Given the description of an element on the screen output the (x, y) to click on. 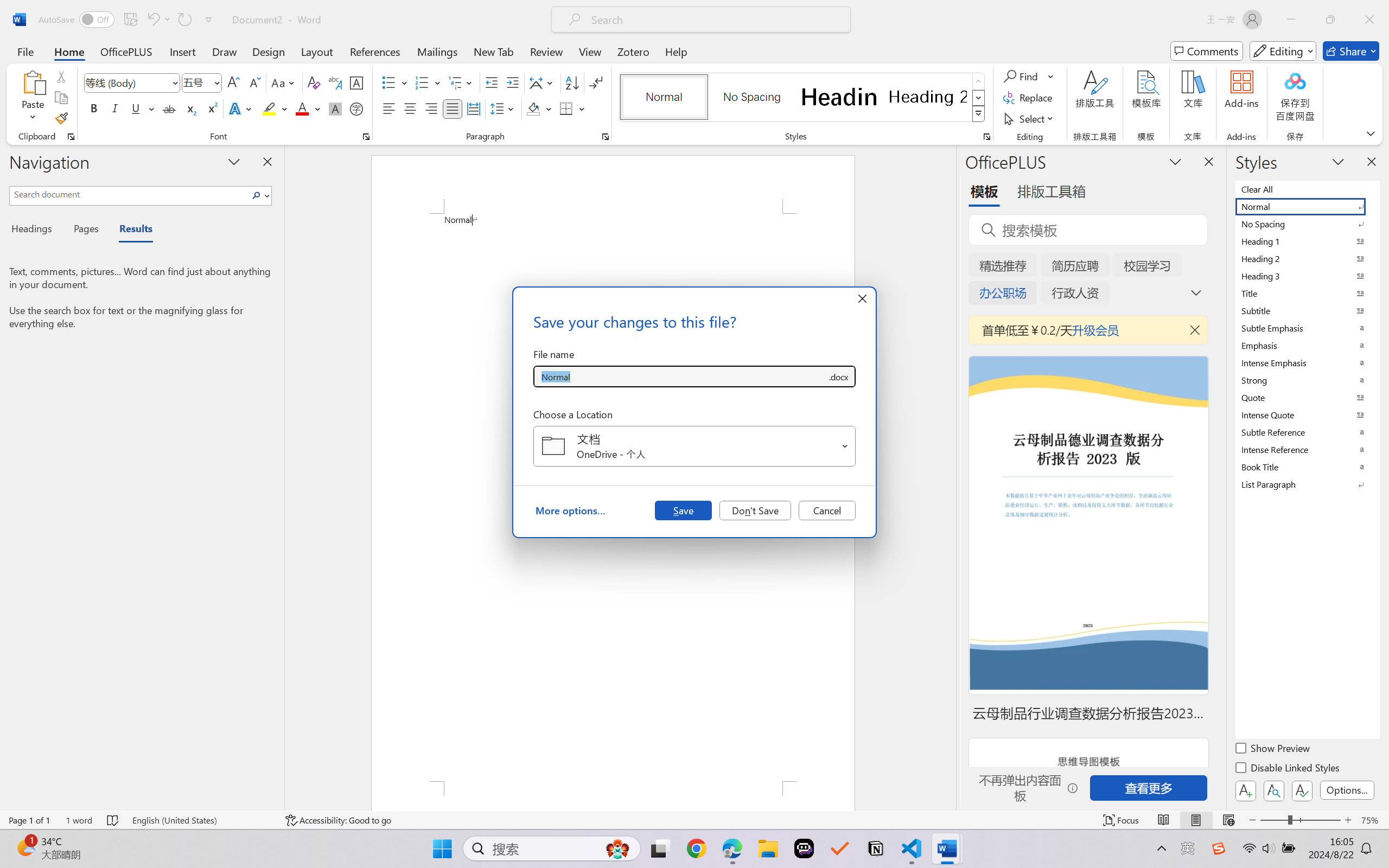
Borders (571, 108)
Italic (115, 108)
Styles (978, 113)
More Options (1051, 75)
Mailings (437, 51)
Paste (33, 81)
Text Effects and Typography (241, 108)
Grow Font (233, 82)
Word Count 1 word (78, 819)
Don't Save (755, 509)
Underline (142, 108)
Ribbon Display Options (1370, 132)
Help (675, 51)
Font Size (201, 82)
Zoom In (1348, 819)
